Given the description of an element on the screen output the (x, y) to click on. 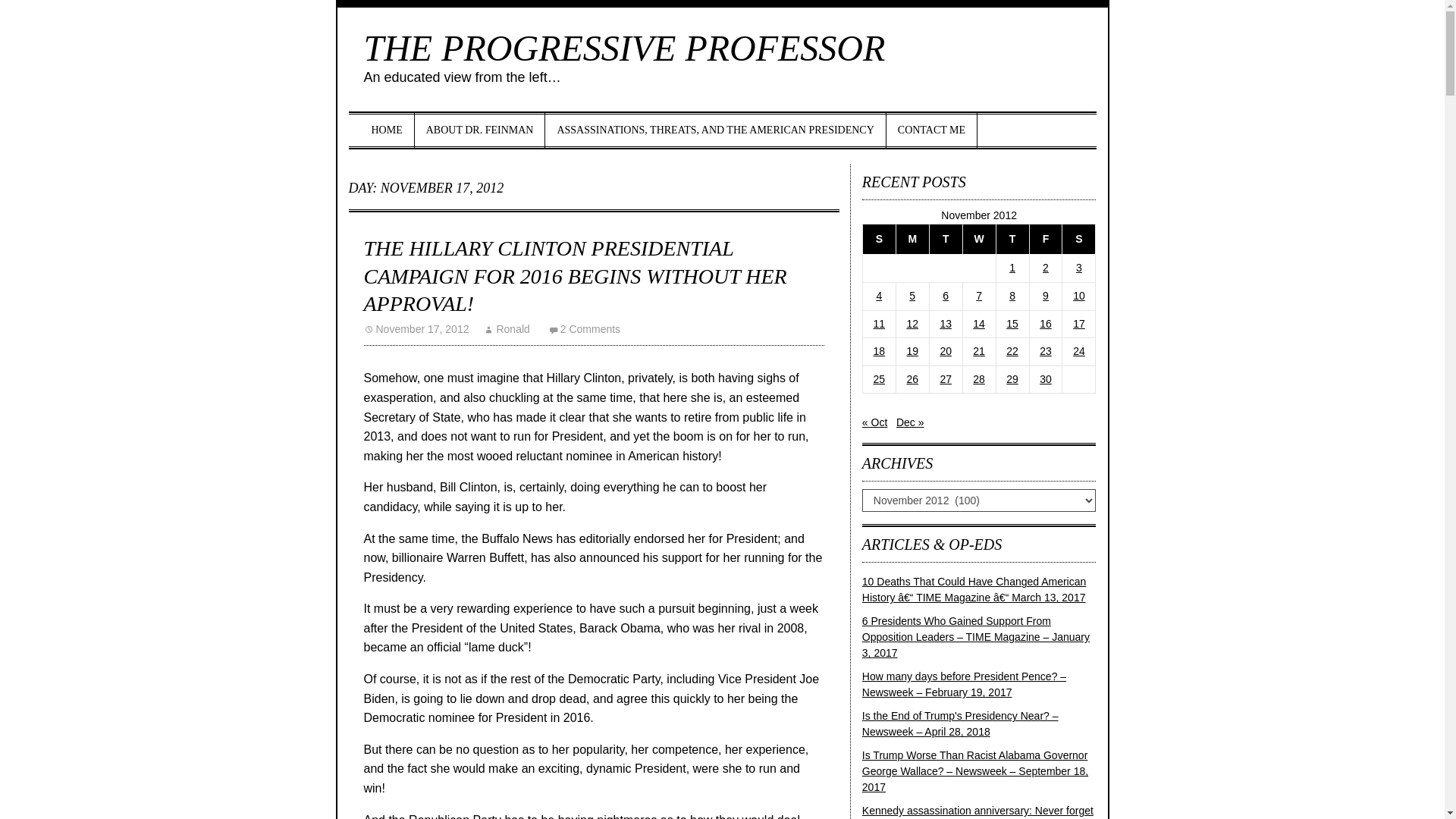
View all posts by Ronald (506, 328)
CONTACT ME (931, 130)
Assassinations, Threats, and the American Presidency (714, 130)
November 17, 2012 (416, 328)
HOME (386, 130)
Home (386, 130)
THE PROGRESSIVE PROFESSOR (624, 47)
About Dr. Feinman (480, 130)
ABOUT DR. FEINMAN (480, 130)
Ronald (506, 328)
